Given the description of an element on the screen output the (x, y) to click on. 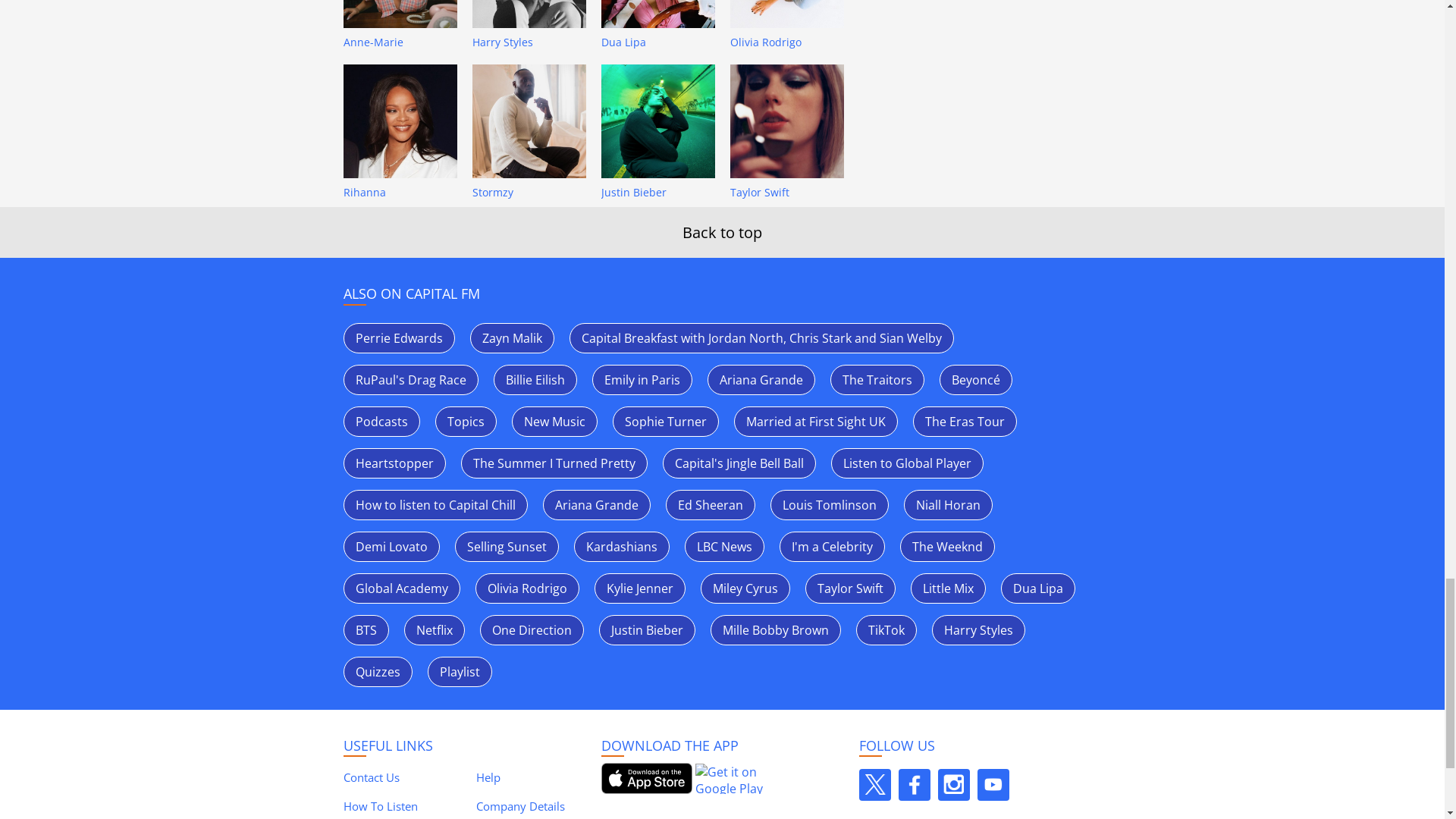
Back to top (721, 231)
Follow Capital on Youtube (992, 784)
Follow Capital on X (874, 784)
Follow Capital on Instagram (953, 784)
Follow Capital on Facebook (914, 784)
